Given the description of an element on the screen output the (x, y) to click on. 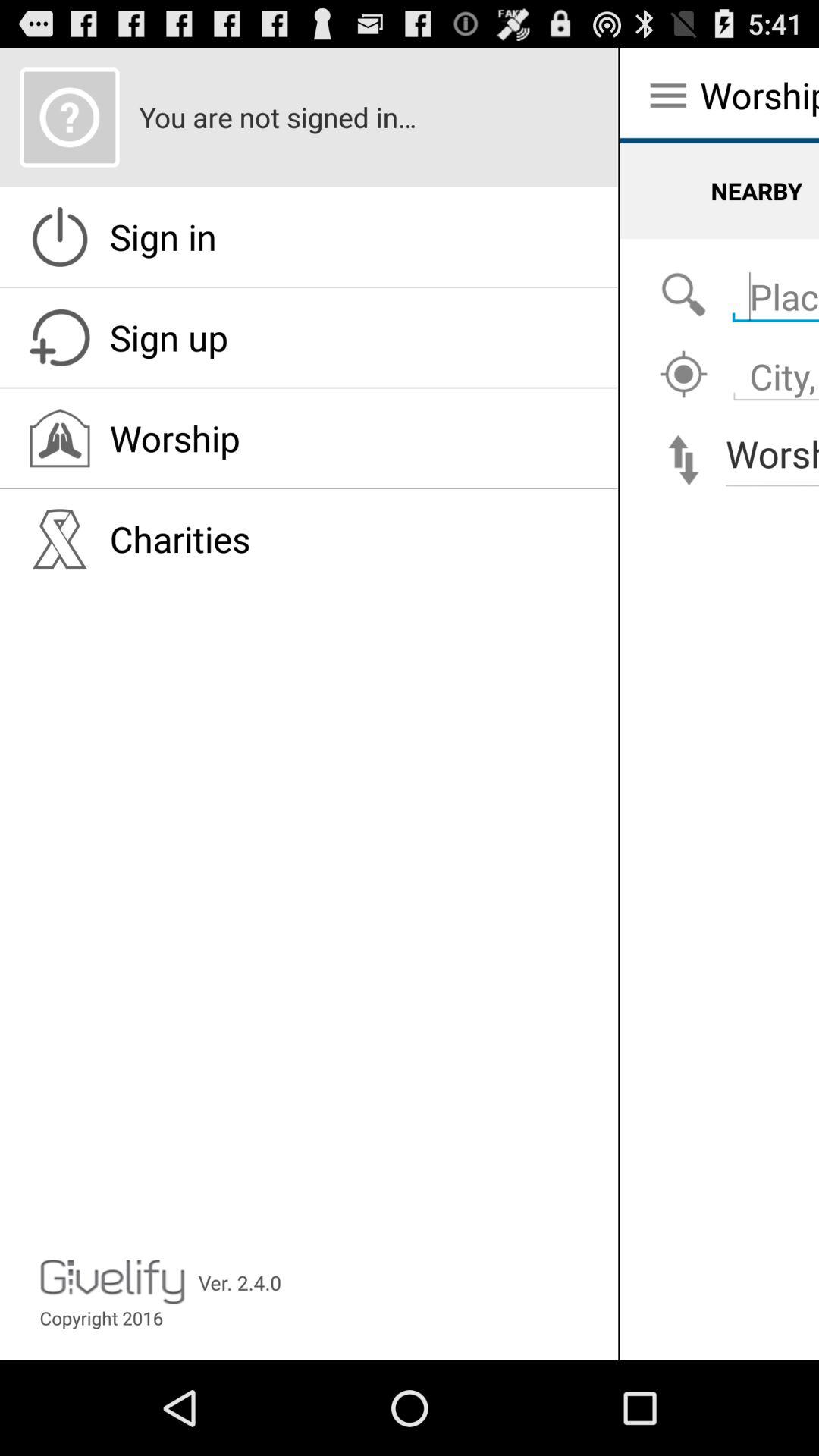
search for place (772, 288)
